Given the description of an element on the screen output the (x, y) to click on. 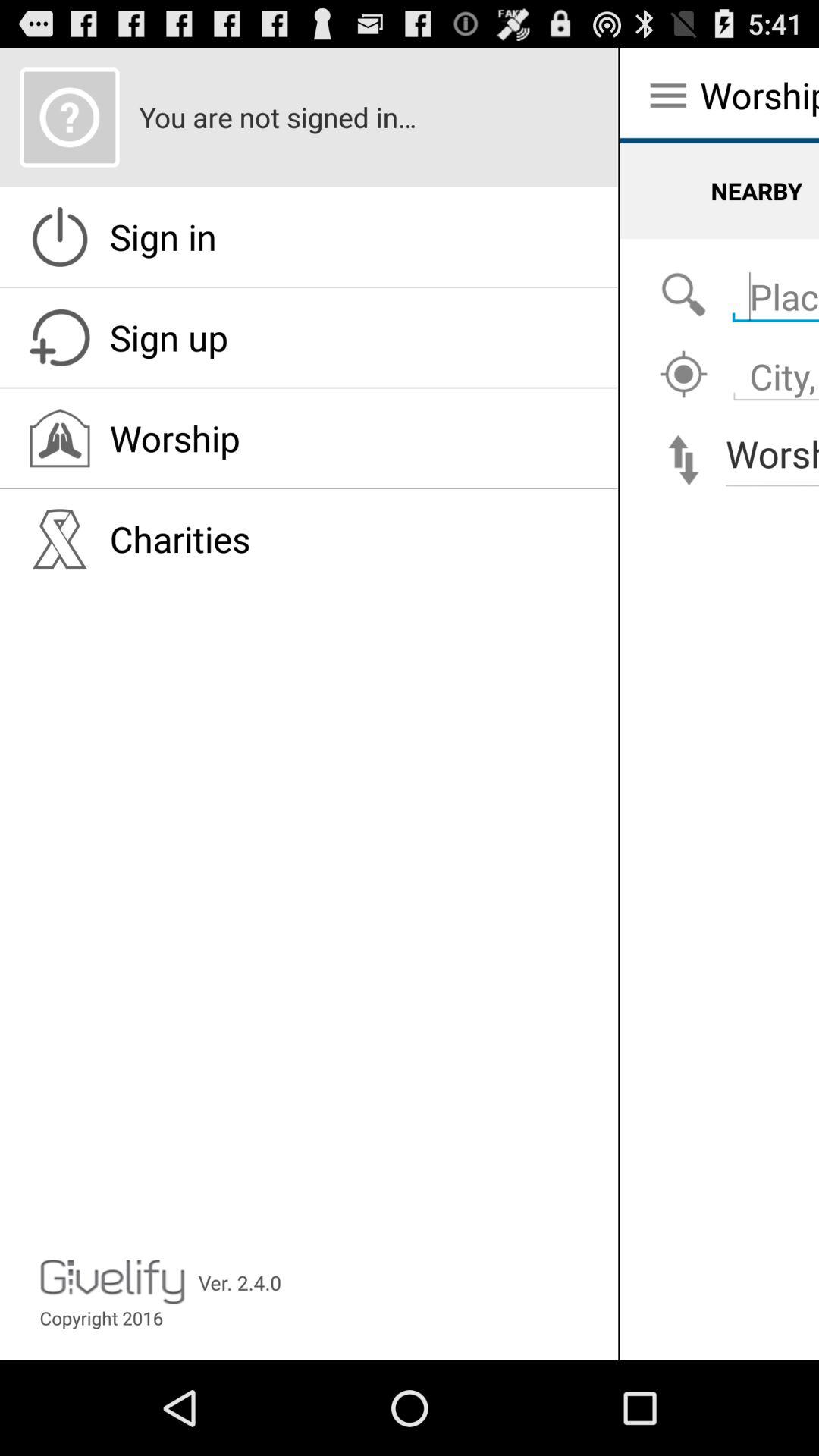
search for place (772, 288)
